Given the description of an element on the screen output the (x, y) to click on. 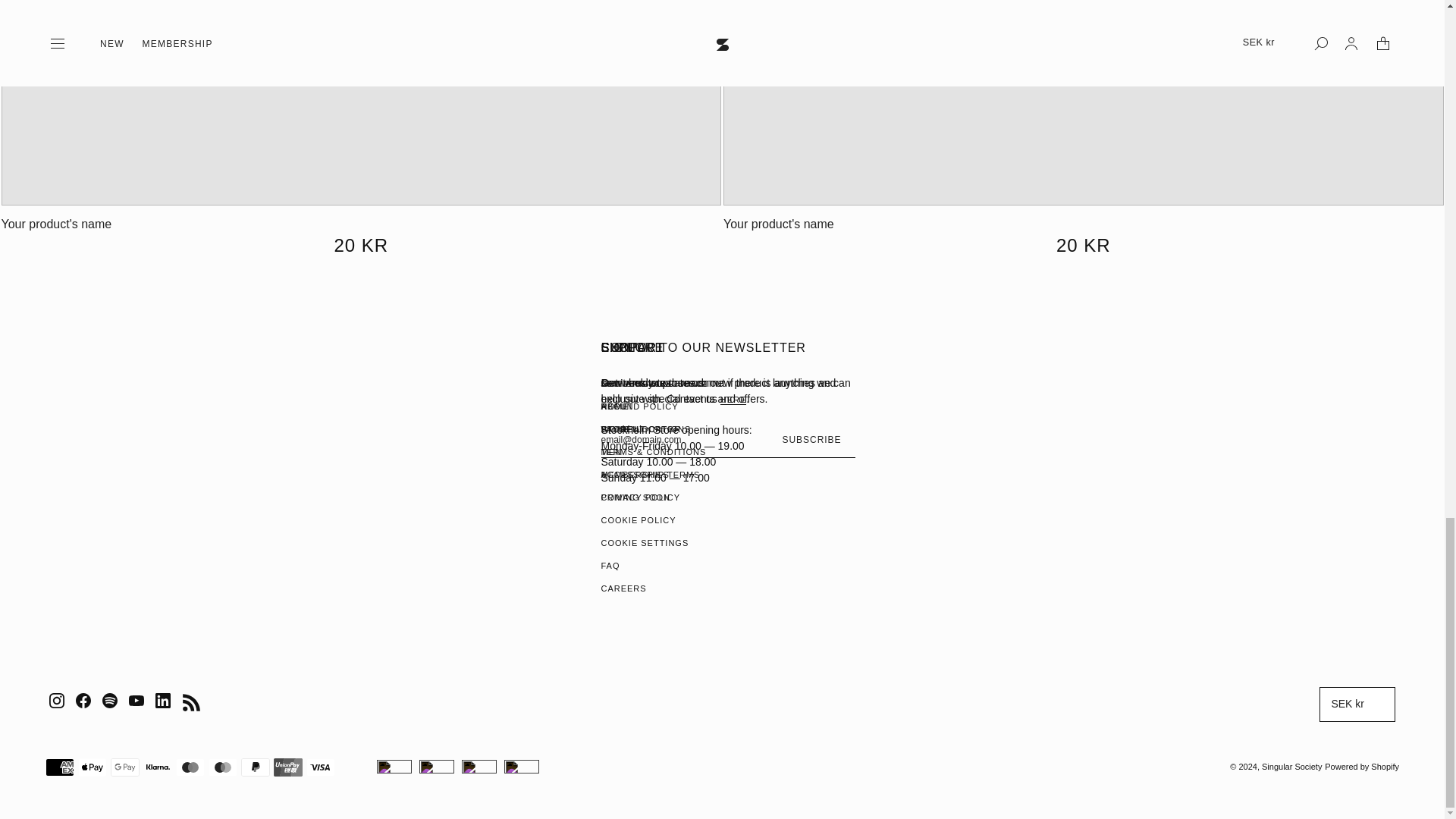
Contact us (733, 399)
Budbee (436, 766)
Postnord (393, 766)
Google Pay (124, 767)
PayPal (255, 767)
Klarna (156, 767)
American Express (59, 767)
Mastercard (222, 767)
DHL Freight (479, 766)
Apple Pay (92, 767)
UPS (521, 766)
Maestro (190, 767)
